Given the description of an element on the screen output the (x, y) to click on. 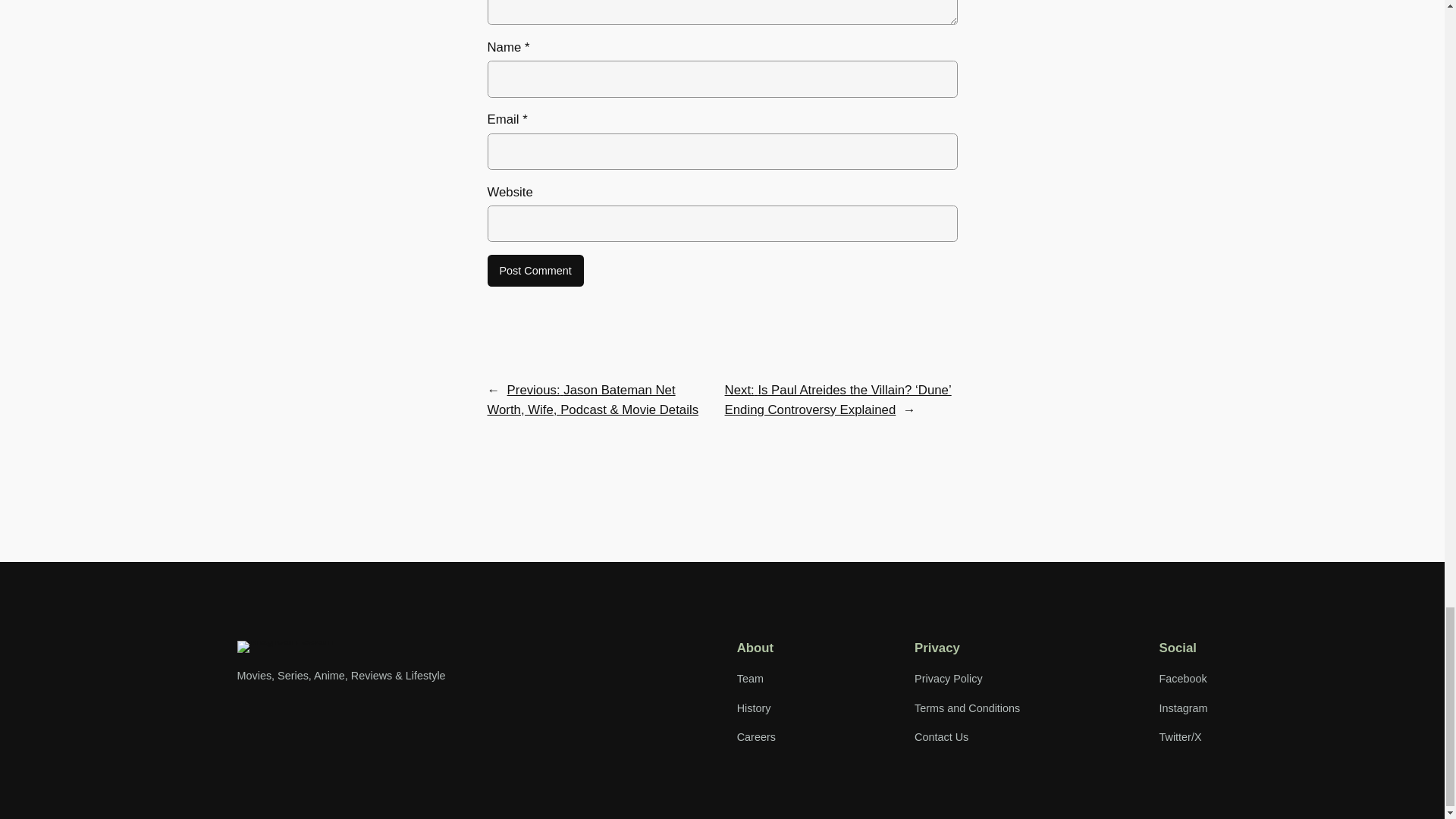
History (753, 708)
Post Comment (534, 270)
Privacy Policy (948, 678)
Terms and Conditions (967, 708)
Careers (756, 736)
Post Comment (534, 270)
Team (749, 678)
